Given the description of an element on the screen output the (x, y) to click on. 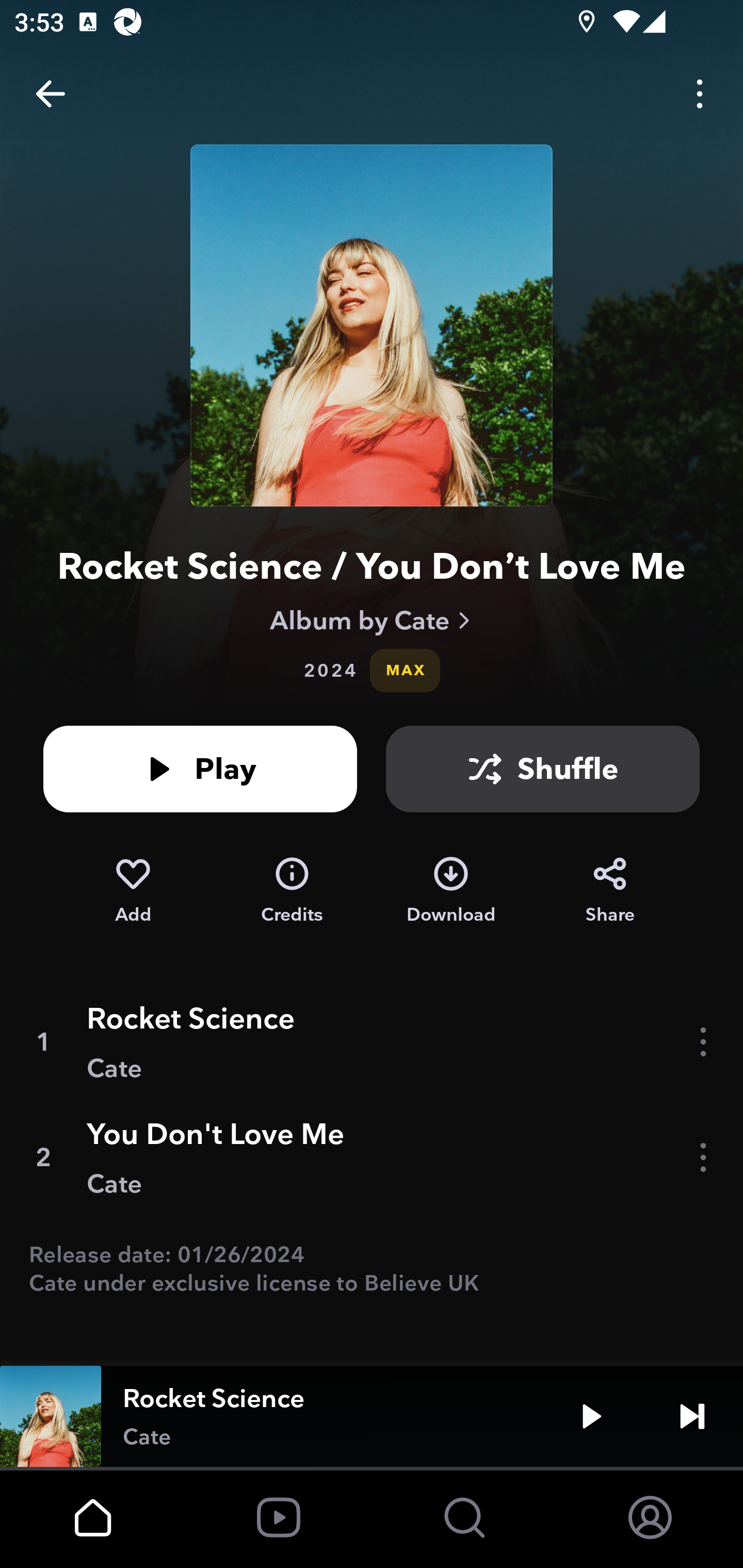
Options (699, 93)
Rocket Science / You Don’t Love Me (371, 565)
Album by Cate (371, 619)
Play (200, 768)
Shuffle (542, 768)
Add to My Collection Add (132, 890)
Credits (291, 890)
Download (450, 890)
Share (609, 890)
1 Rocket Science Cate (371, 1041)
2 You Don't Love Me Cate (371, 1157)
Rocket Science Cate Play (371, 1416)
Play (590, 1416)
